Given the description of an element on the screen output the (x, y) to click on. 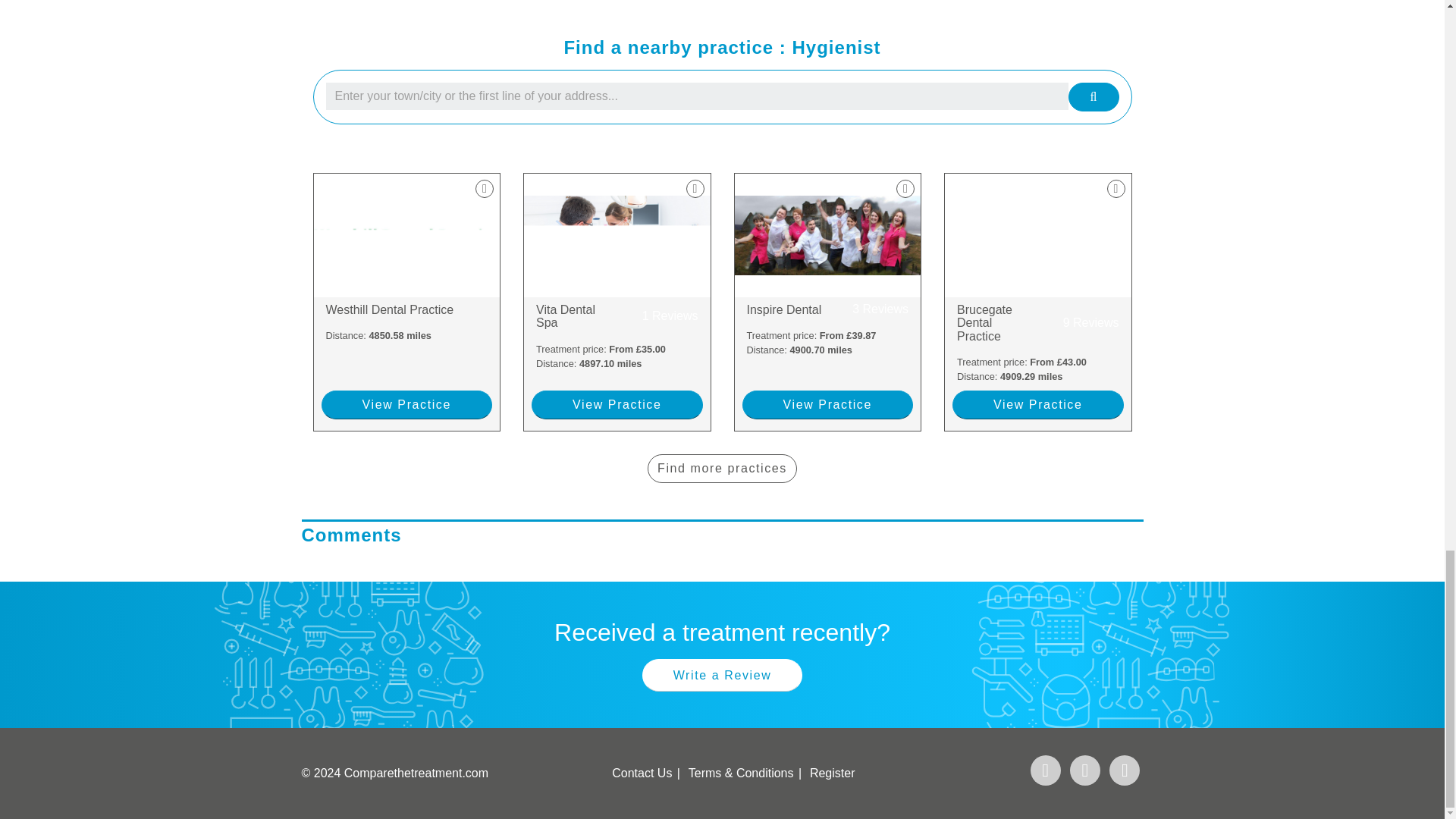
View Practice (617, 404)
View Practice (407, 404)
Westhill Dental Practice (617, 316)
